Given the description of an element on the screen output the (x, y) to click on. 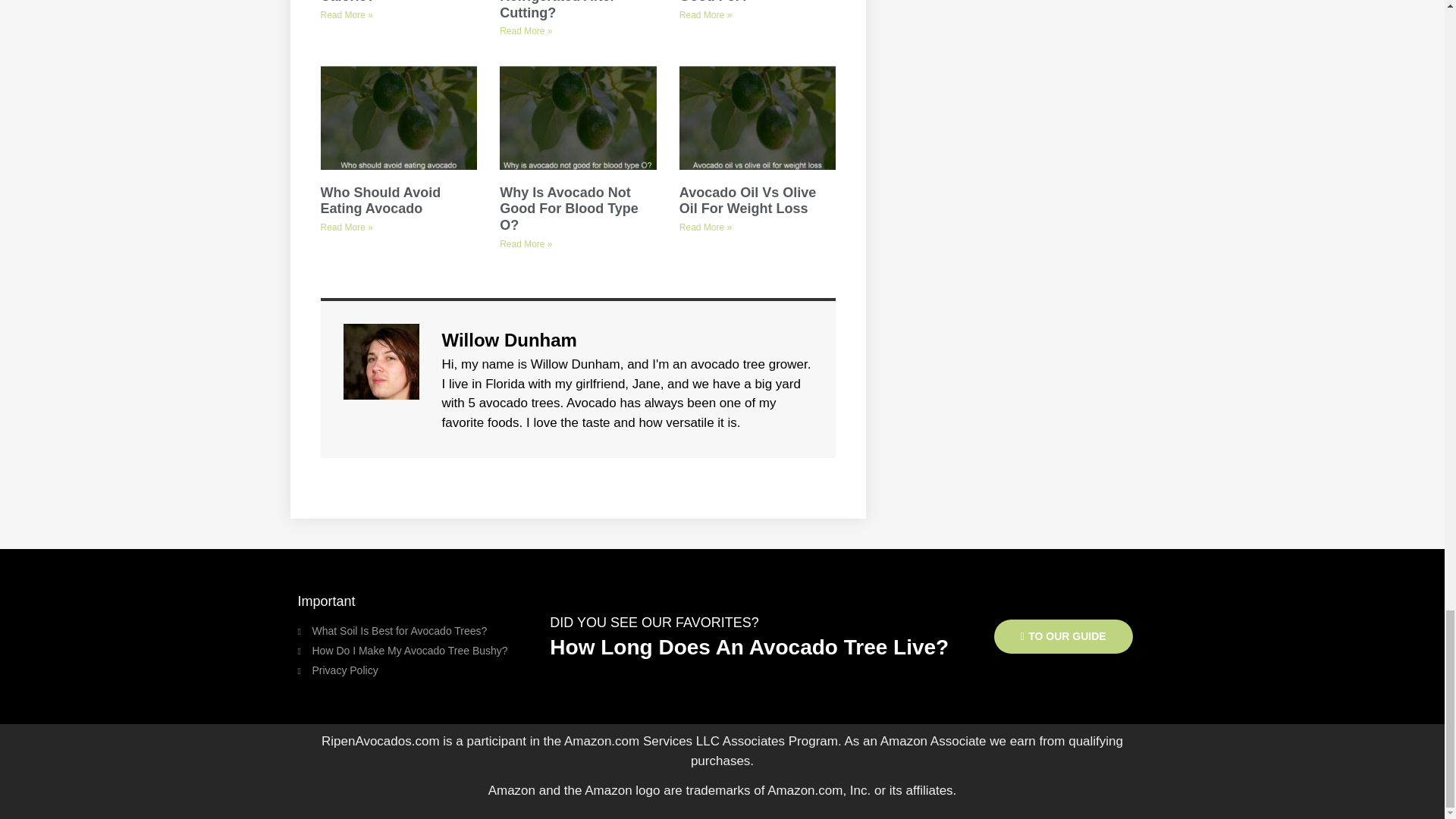
Why Is Avocado Not Good For Blood Type O? (569, 208)
Should Avocado Be Refrigerated After Cutting? (563, 10)
Is Avocado Low Calorie? (371, 2)
Avocado Oil Vs Olive Oil For Weight Loss (747, 201)
Who Should Avoid Eating Avocado (380, 201)
